Given the description of an element on the screen output the (x, y) to click on. 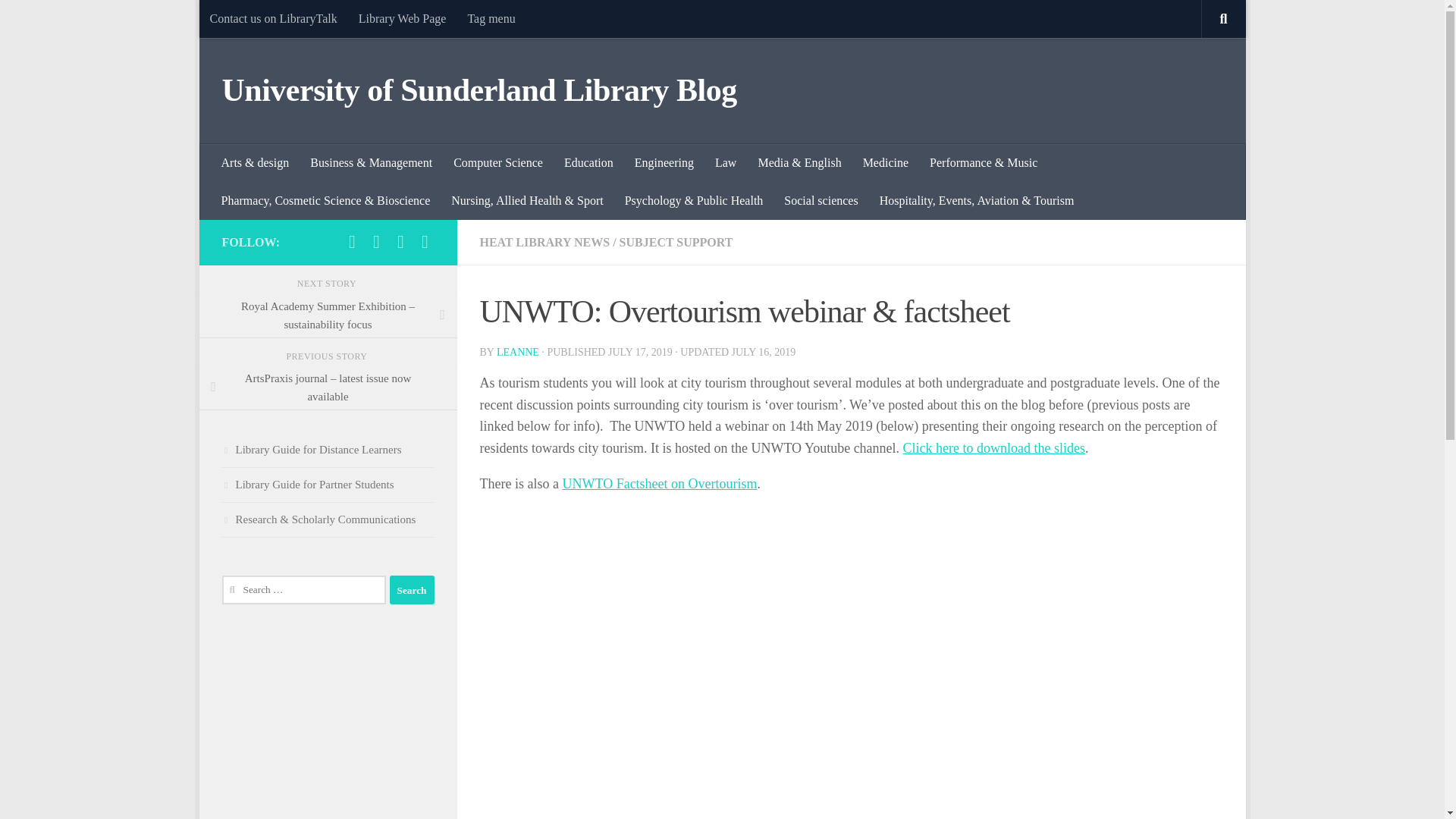
Engineering (664, 162)
Library Web Page (402, 18)
Tag menu (491, 18)
SUBJECT SUPPORT (676, 241)
Law (725, 162)
Skip to content (258, 20)
Social sciences (820, 200)
Instagram (423, 241)
Youtube (400, 241)
Contact us on LibraryTalk (272, 18)
HEAT LIBRARY NEWS (544, 241)
Click here to download the slides (993, 447)
UNWTO Factsheet on Overtourism (659, 483)
Posts by Leanne (517, 351)
